Given the description of an element on the screen output the (x, y) to click on. 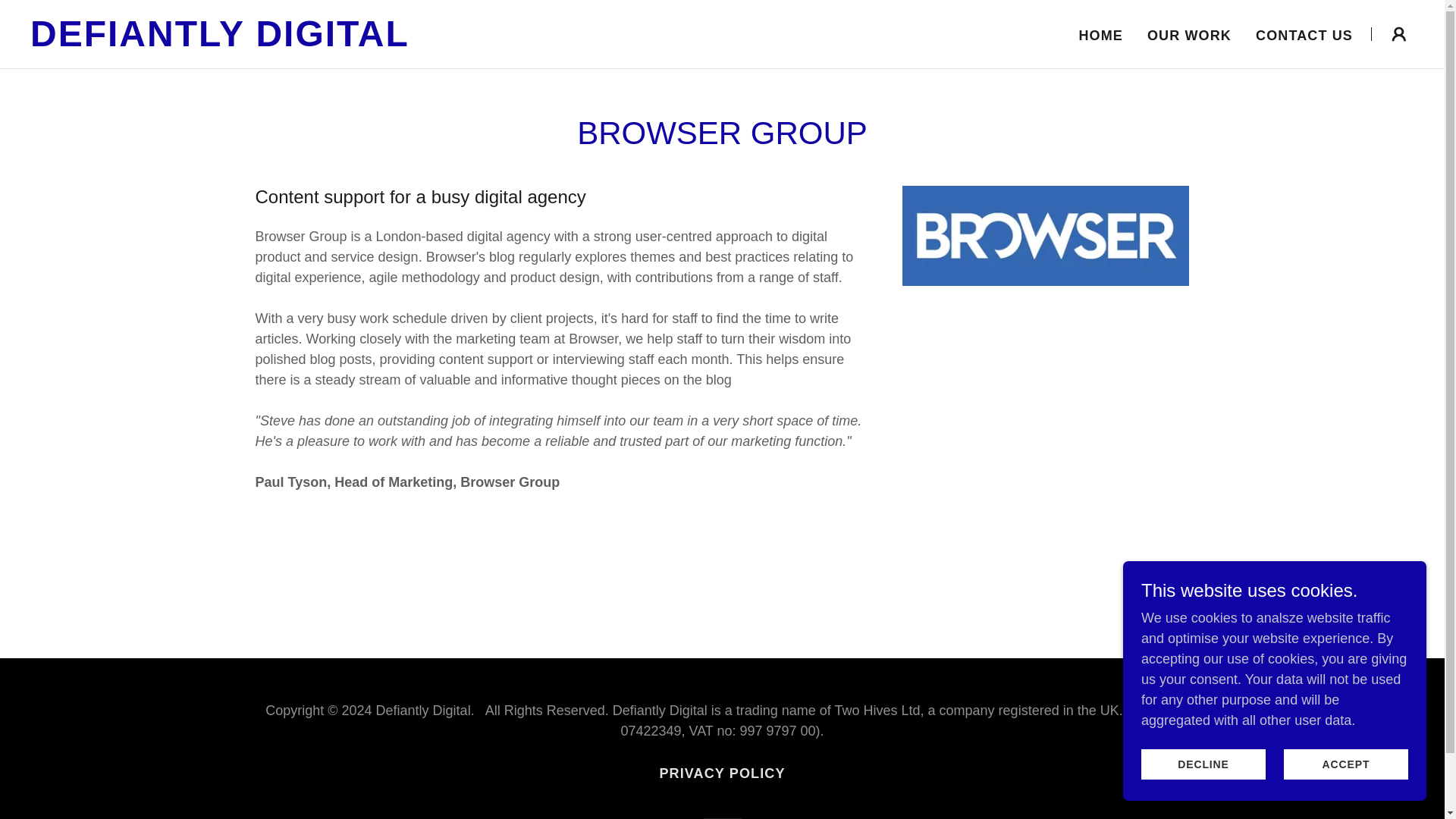
CONTACT US (1303, 35)
DECLINE (1203, 764)
ACCEPT (1345, 764)
Defiantly Digital (272, 41)
DEFIANTLY DIGITAL (272, 41)
HOME (1100, 35)
OUR WORK (1189, 35)
PRIVACY POLICY (721, 773)
